Given the description of an element on the screen output the (x, y) to click on. 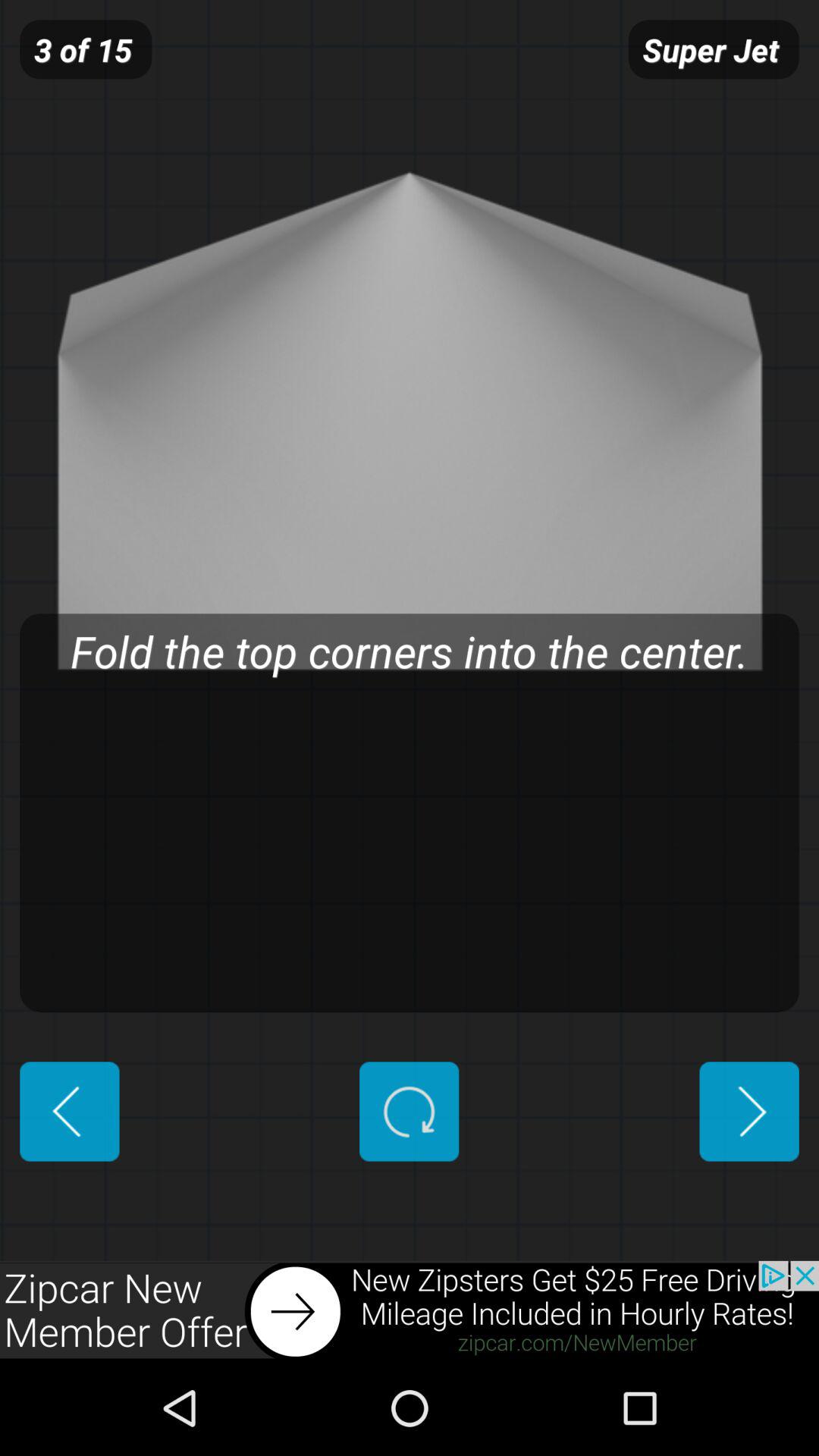
external advertisement zipcar new member offer (409, 1310)
